Given the description of an element on the screen output the (x, y) to click on. 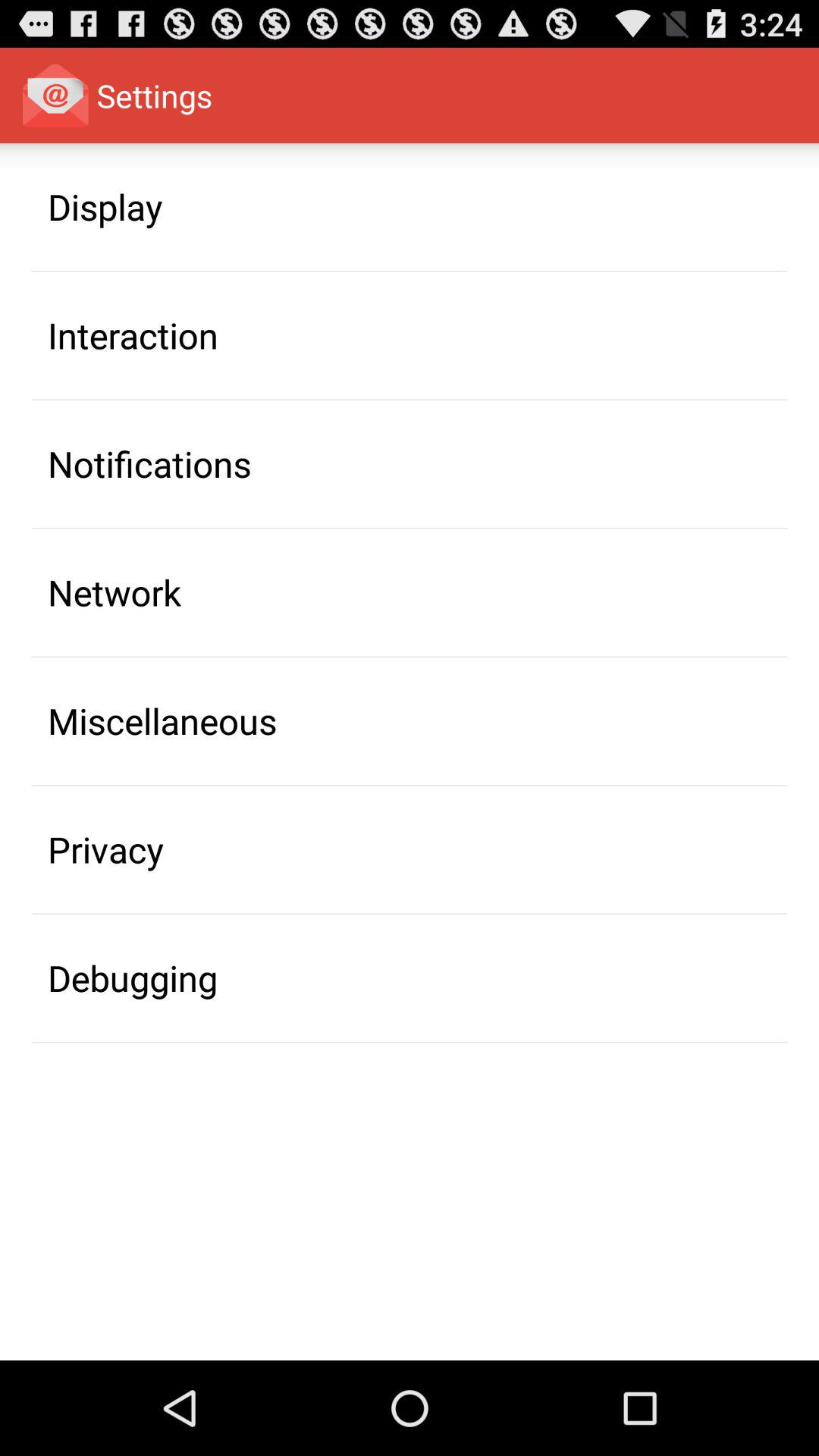
scroll to privacy (105, 849)
